Given the description of an element on the screen output the (x, y) to click on. 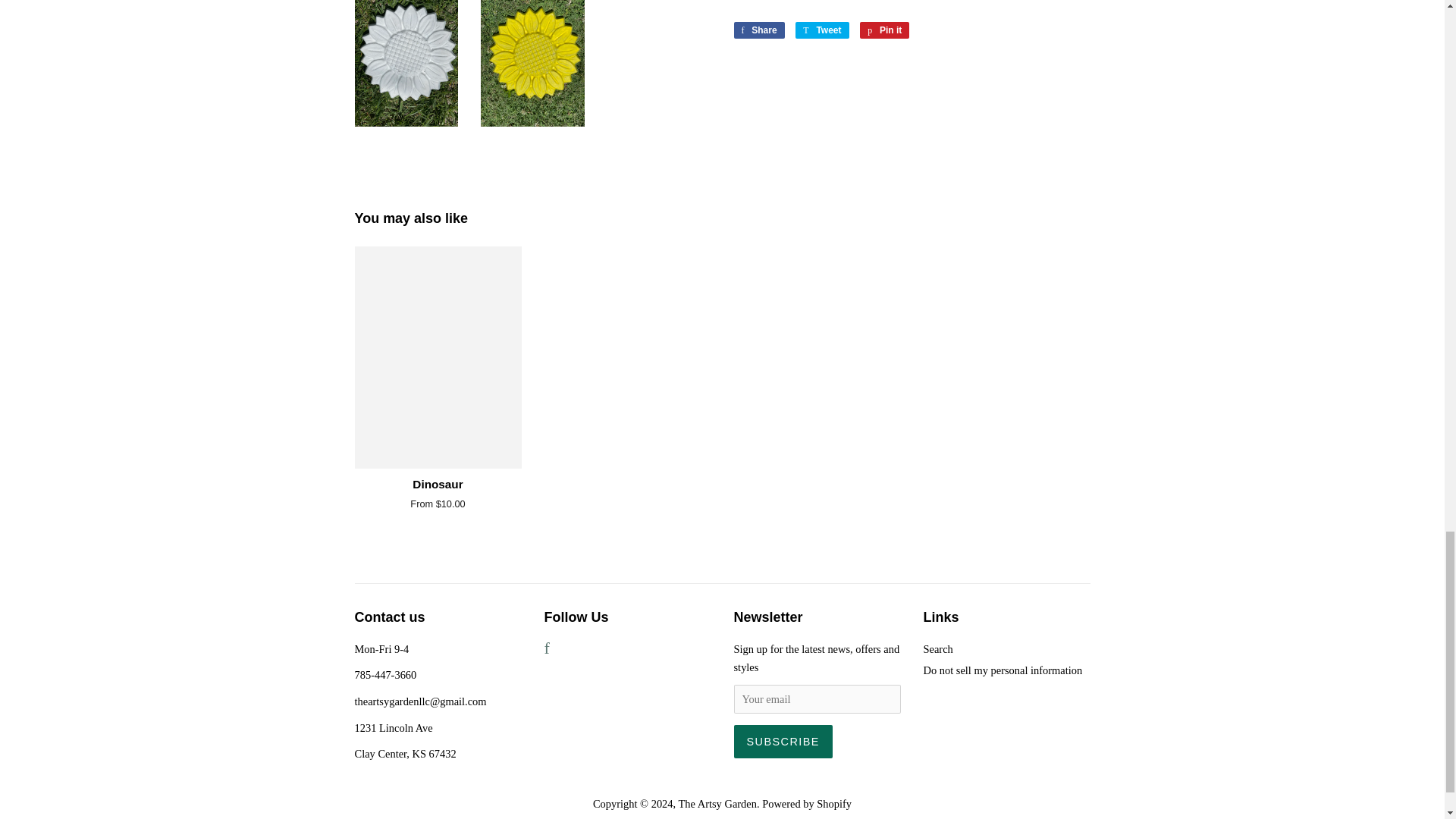
Tweet on Twitter (821, 30)
Subscribe (782, 741)
Pin on Pinterest (884, 30)
Share on Facebook (758, 30)
